Given the description of an element on the screen output the (x, y) to click on. 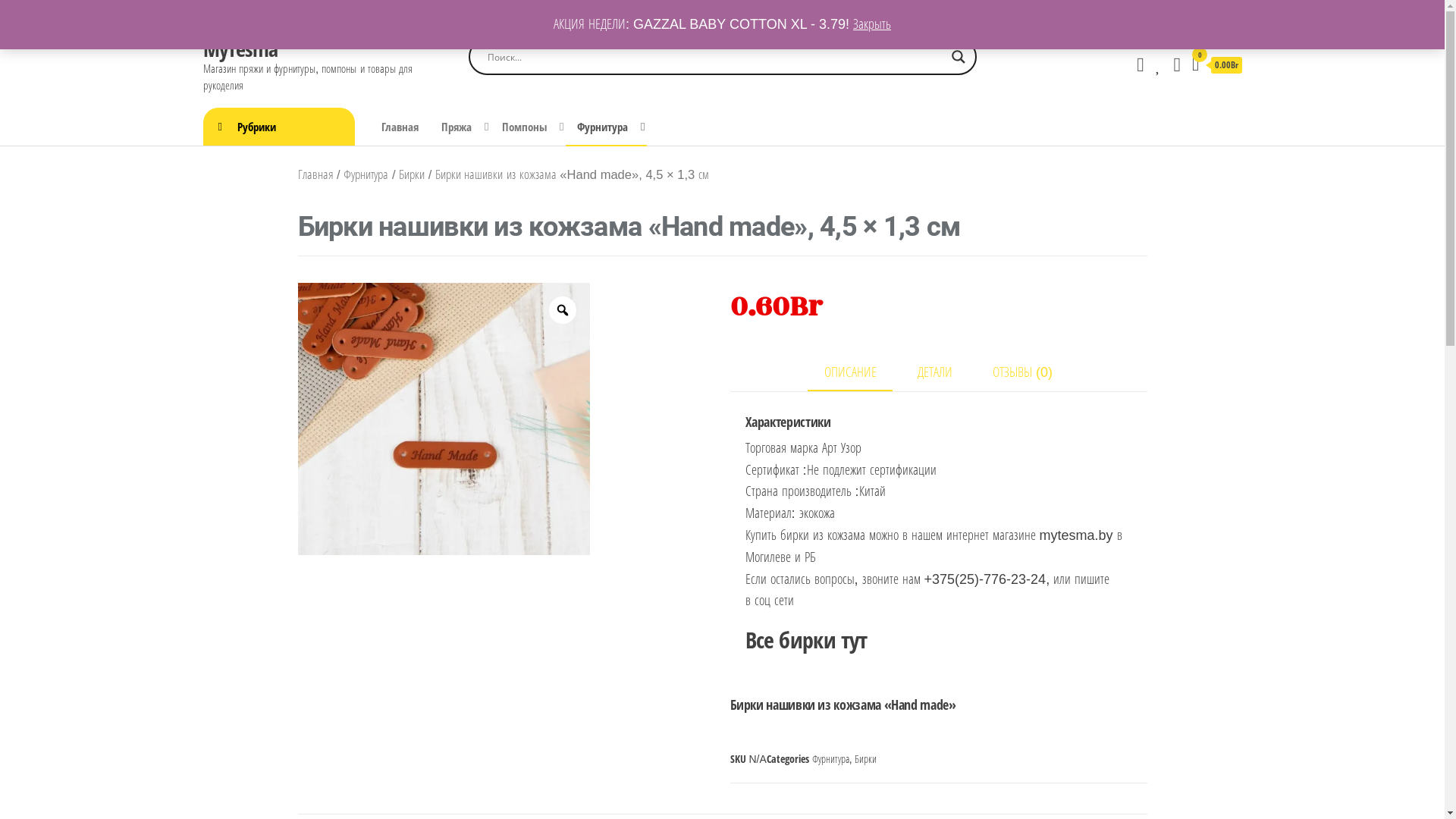
+375(25)-776-23-24 Element type: text (985, 578)
4317030 Element type: hover (443, 418)
MyTesma Element type: text (240, 48)
0
0.00Br Element type: text (1217, 65)
